Given the description of an element on the screen output the (x, y) to click on. 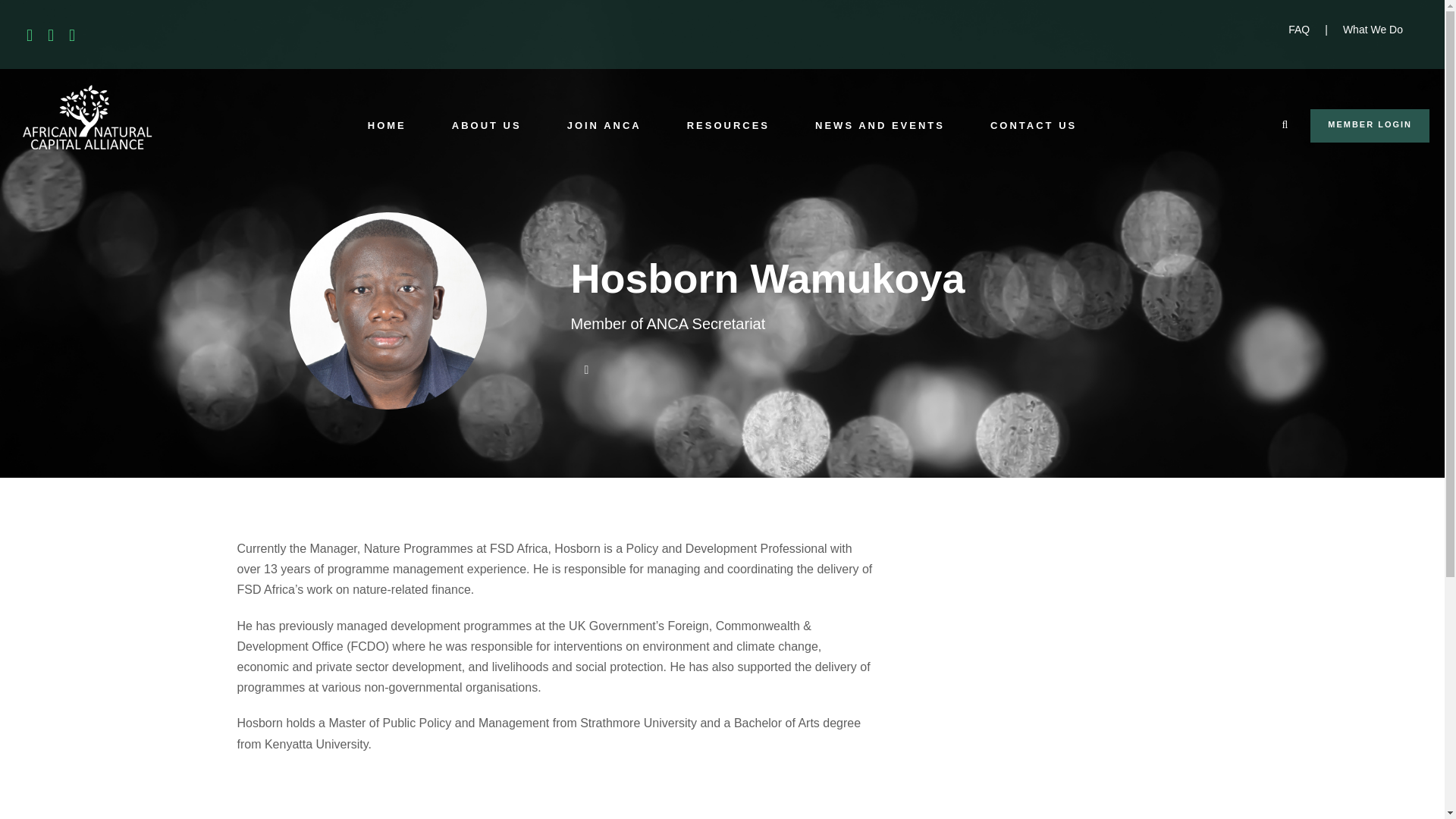
hosbo11 (387, 310)
JOIN ANCA (604, 139)
NEWS AND EVENTS (879, 139)
ABOUT US (486, 139)
What We Do (1372, 29)
RESOURCES (728, 139)
FAQ (1298, 29)
MEMBER LOGIN (1369, 125)
CONTACT US (1033, 139)
